Given the description of an element on the screen output the (x, y) to click on. 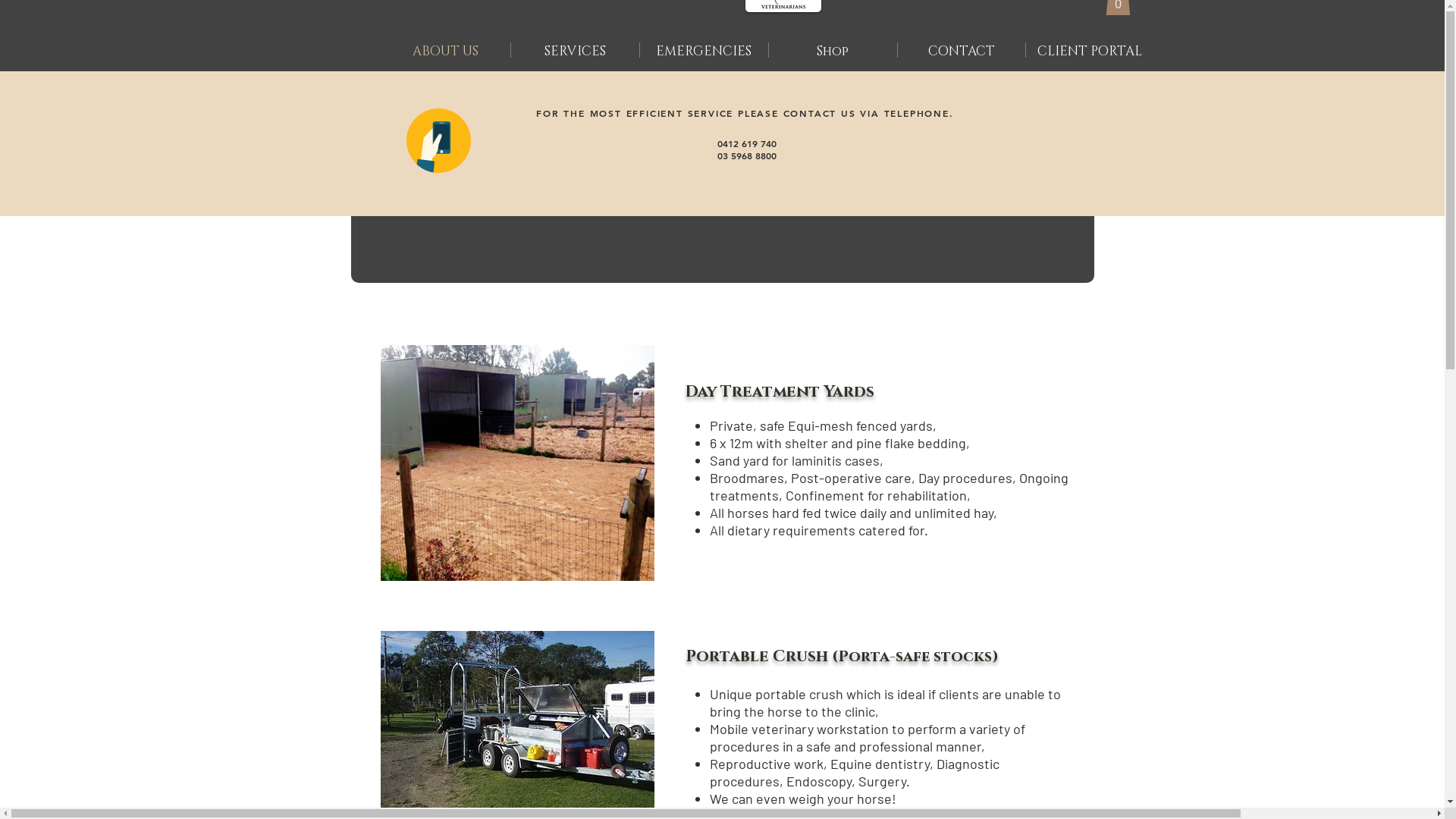
ABOUT US Element type: text (444, 49)
SERVICES Element type: text (575, 49)
CLIENT PORTAL Element type: text (1088, 49)
CONTACT Element type: text (961, 49)
1599553_779525758741594_1616847631_o.jpg Element type: hover (517, 723)
Shop Element type: text (832, 49)
kurt.jpg Element type: hover (517, 462)
EMERGENCIES Element type: text (704, 49)
